Given the description of an element on the screen output the (x, y) to click on. 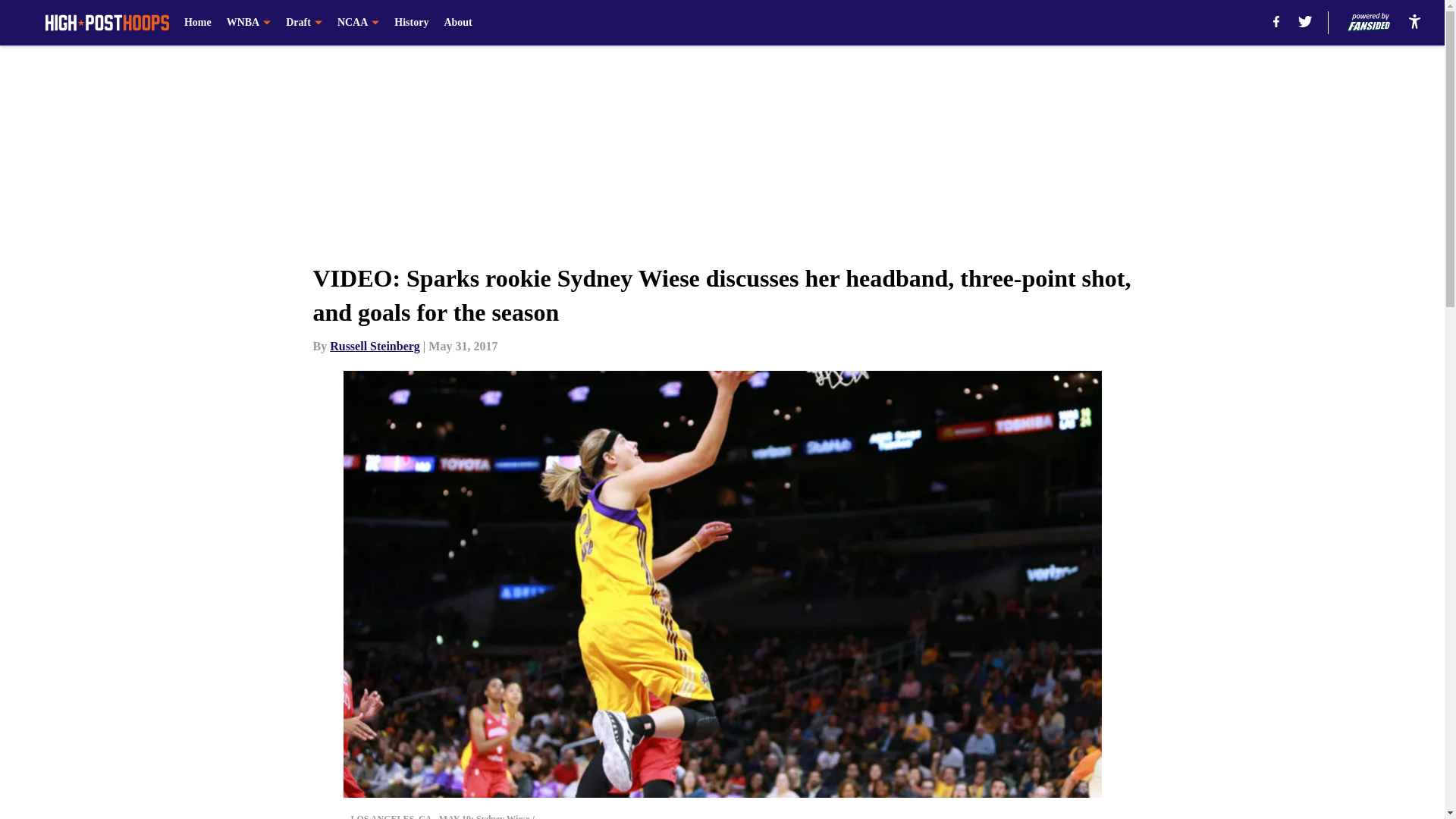
History (411, 22)
Russell Steinberg (375, 345)
Home (197, 22)
About (457, 22)
